Given the description of an element on the screen output the (x, y) to click on. 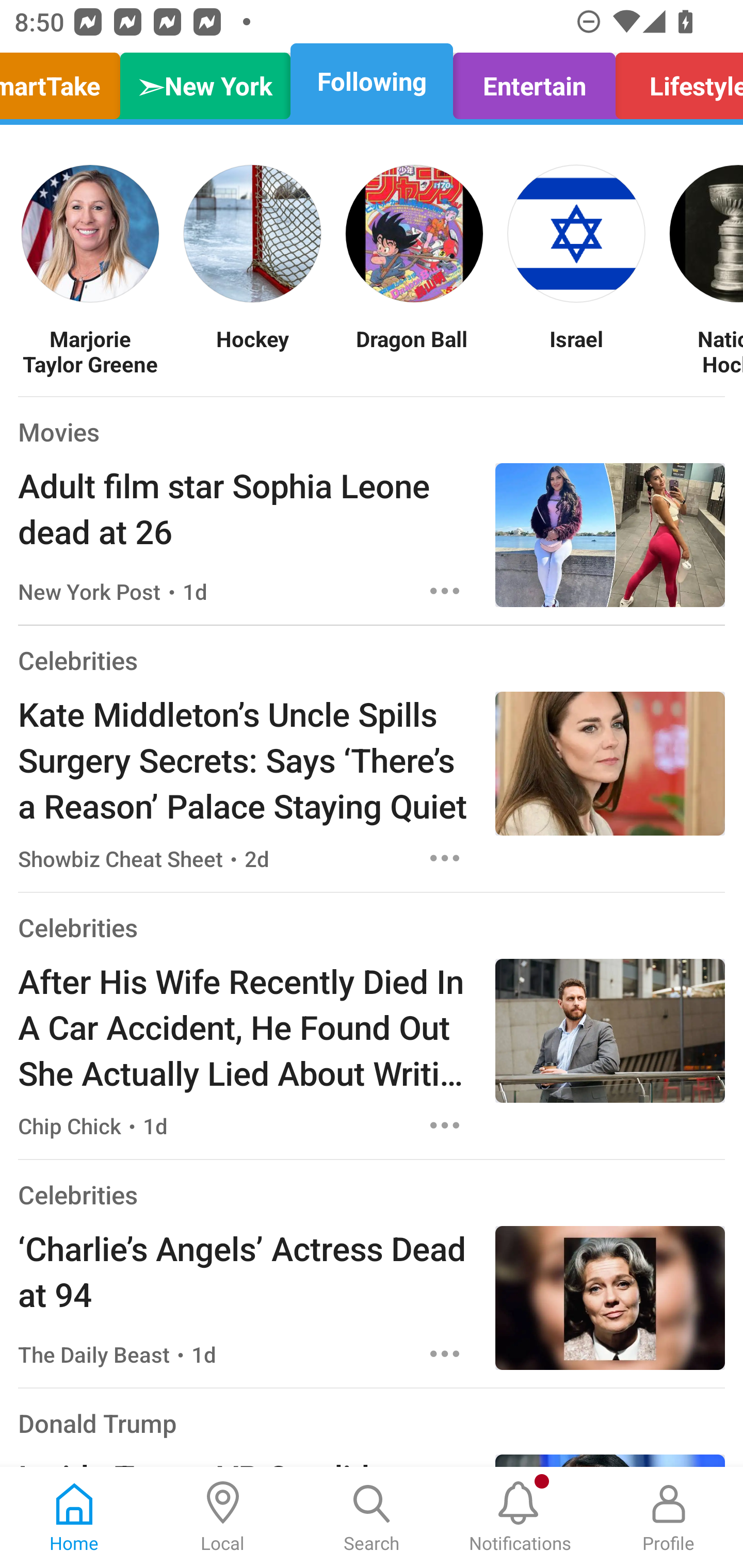
SmartTake (65, 81)
➣New York (205, 81)
Following (371, 81)
Entertain (534, 81)
Marjorie Taylor Greene (89, 350)
Hockey (251, 350)
Dragon Ball  (413, 350)
Israel (575, 350)
Movies (58, 430)
Options (444, 591)
Celebrities (77, 659)
Options (444, 858)
Celebrities (77, 927)
Options (444, 1125)
Celebrities (77, 1194)
Options (444, 1353)
Donald Trump (97, 1422)
Local (222, 1517)
Search (371, 1517)
Notifications, New notification Notifications (519, 1517)
Profile (668, 1517)
